Given the description of an element on the screen output the (x, y) to click on. 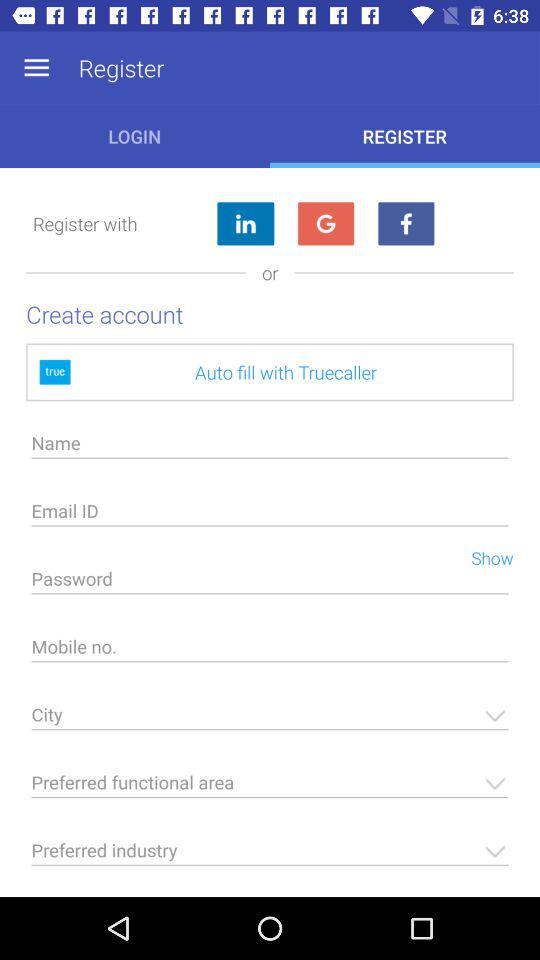
open the auto fill with icon (269, 372)
